Given the description of an element on the screen output the (x, y) to click on. 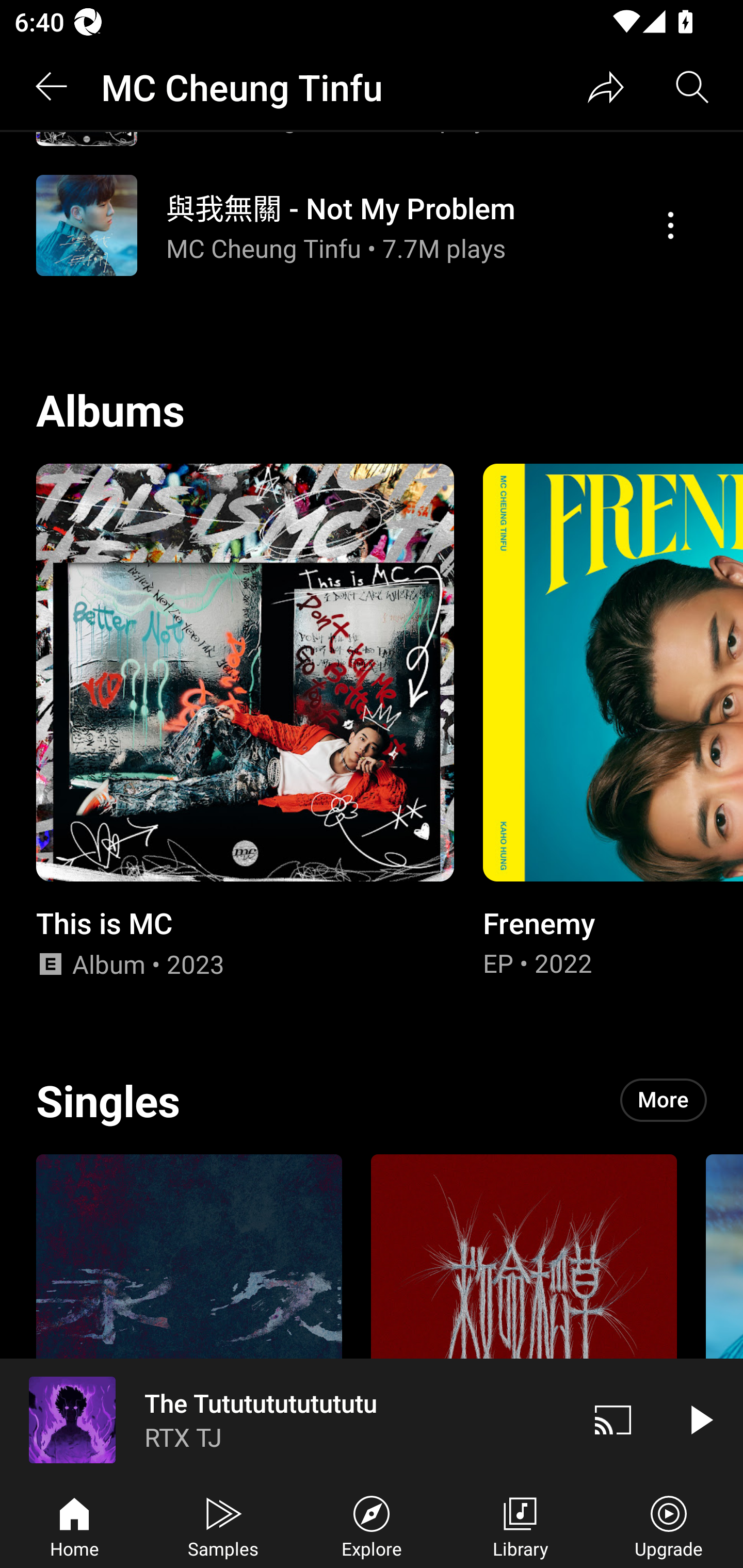
Back (50, 86)
Share (605, 86)
Search (692, 86)
Action menu (371, 224)
Action menu (670, 225)
The Tutututututututu RTX TJ (284, 1419)
Cast. Disconnected (612, 1419)
Play video (699, 1419)
Home (74, 1524)
Samples (222, 1524)
Explore (371, 1524)
Library (519, 1524)
Upgrade (668, 1524)
